Given the description of an element on the screen output the (x, y) to click on. 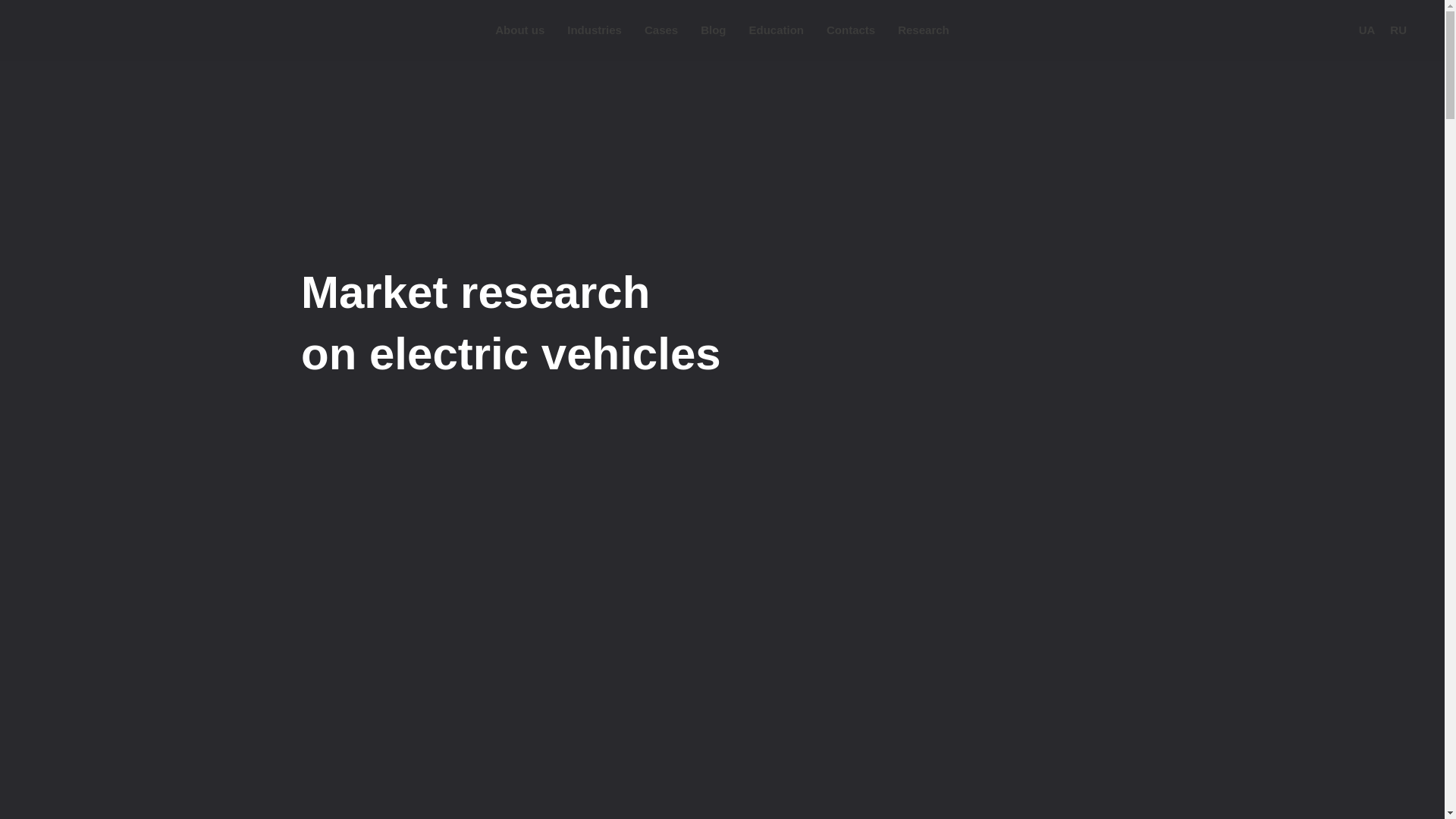
Contacts (851, 29)
UA (1366, 29)
Cases (661, 29)
Blog (712, 29)
Education (775, 29)
RU (1398, 29)
About us (519, 29)
Industries (594, 29)
Research (923, 29)
